Given the description of an element on the screen output the (x, y) to click on. 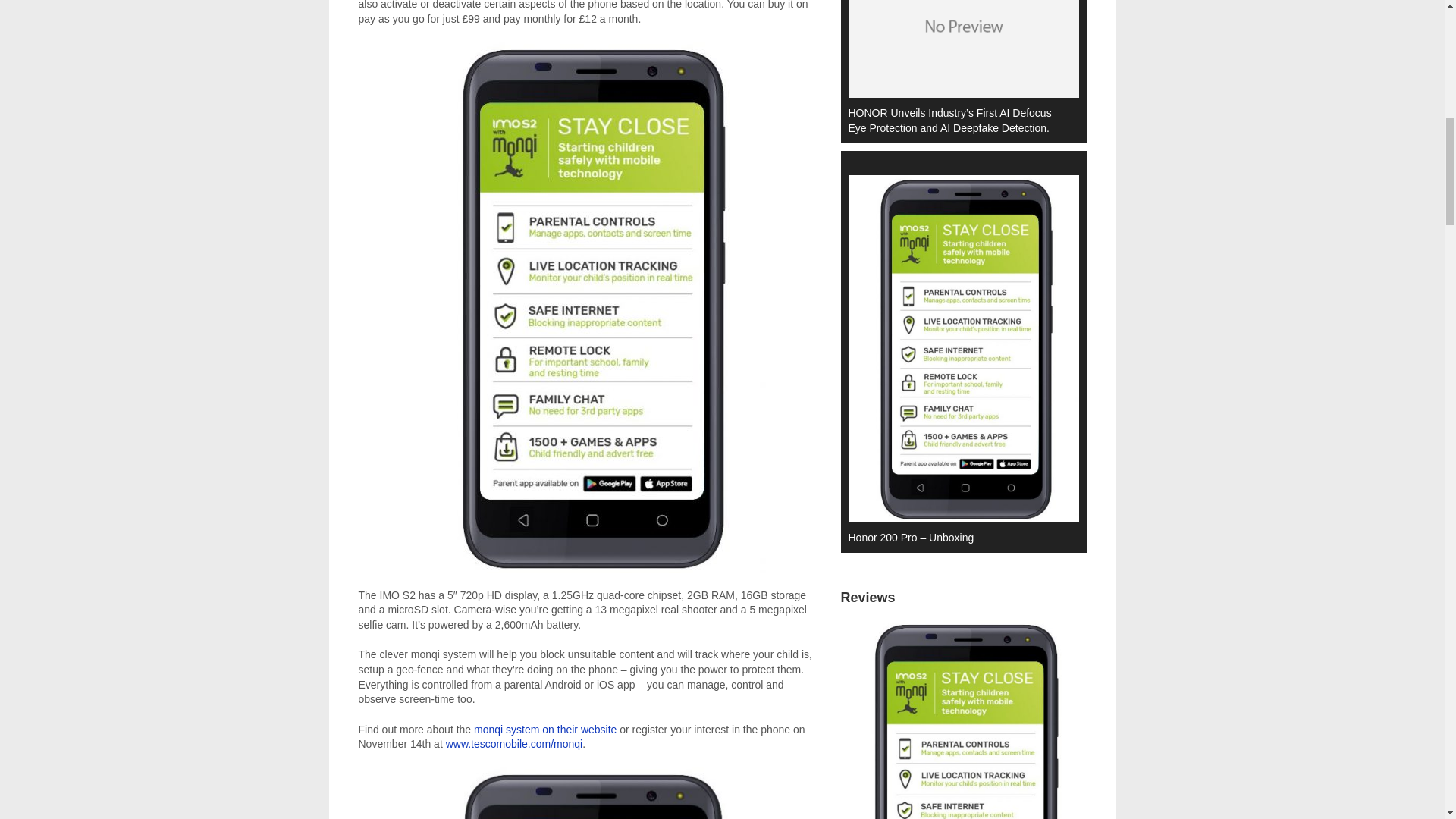
Tesco launch the Monqi (589, 793)
monqi system on their website (544, 729)
